Given the description of an element on the screen output the (x, y) to click on. 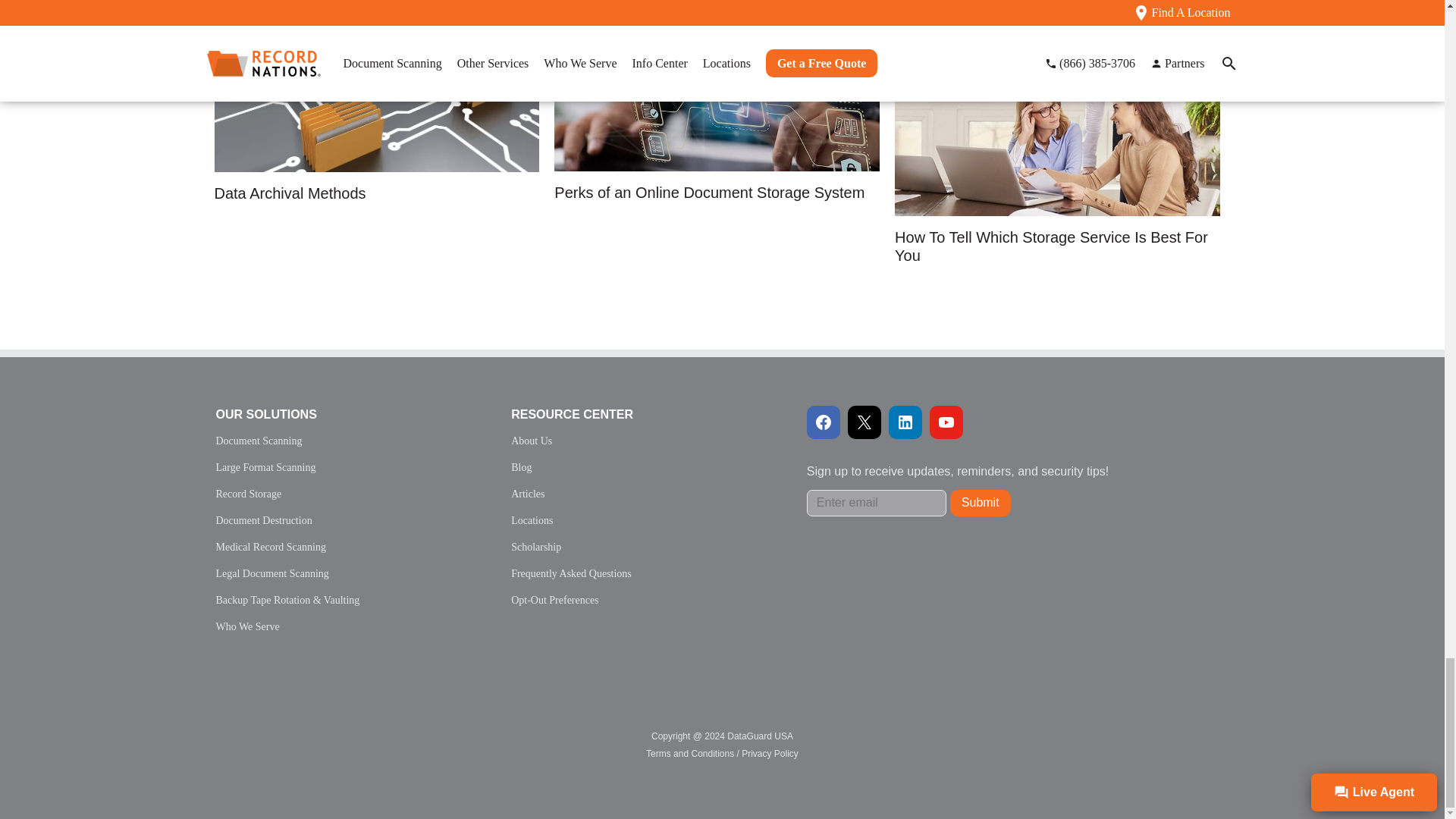
Youtube (946, 421)
Twitter (863, 421)
Linkedin (904, 421)
Facebook (823, 421)
